Given the description of an element on the screen output the (x, y) to click on. 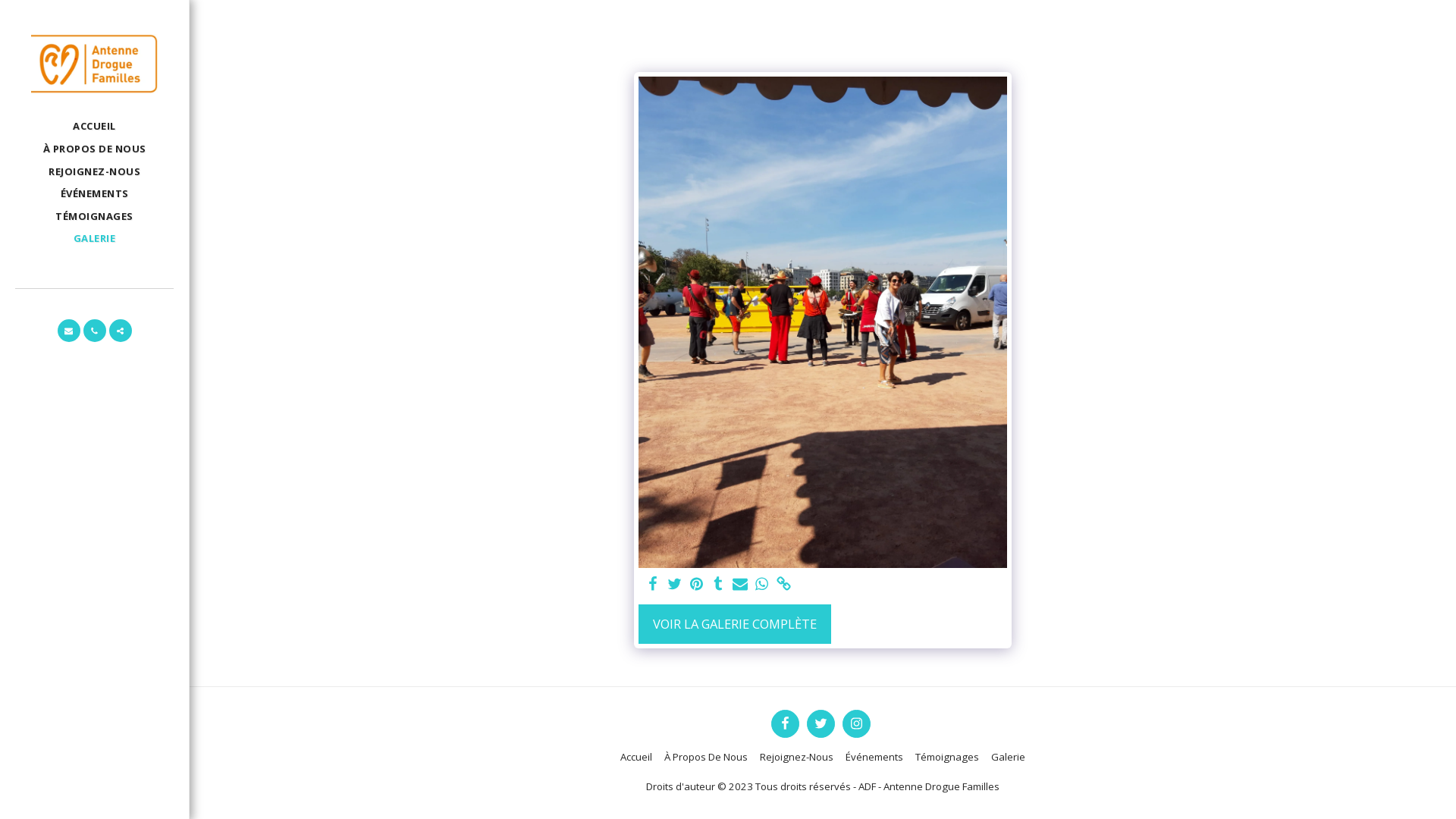
Rejoignez-Nous Element type: text (796, 756)
  Element type: text (784, 584)
Pin it Element type: hover (696, 584)
ACCUEIL Element type: text (94, 127)
  Element type: text (762, 584)
tumblr Element type: hover (718, 584)
whatsapp Element type: hover (762, 584)
REJOIGNEZ-NOUS Element type: text (94, 171)
  Element type: text (652, 584)
  Element type: text (785, 723)
Share on Facebook Element type: hover (652, 584)
  Element type: text (856, 723)
Galerie Element type: text (1008, 756)
Share by Email Element type: hover (740, 584)
GALERIE Element type: text (94, 239)
link Element type: hover (784, 584)
  Element type: text (94, 330)
  Element type: text (696, 584)
  Element type: text (718, 584)
  Element type: text (820, 723)
  Element type: text (68, 330)
  Element type: text (740, 584)
Accueil Element type: text (636, 756)
Tweet Element type: hover (674, 584)
  Element type: text (674, 584)
  Element type: text (120, 330)
